Given the description of an element on the screen output the (x, y) to click on. 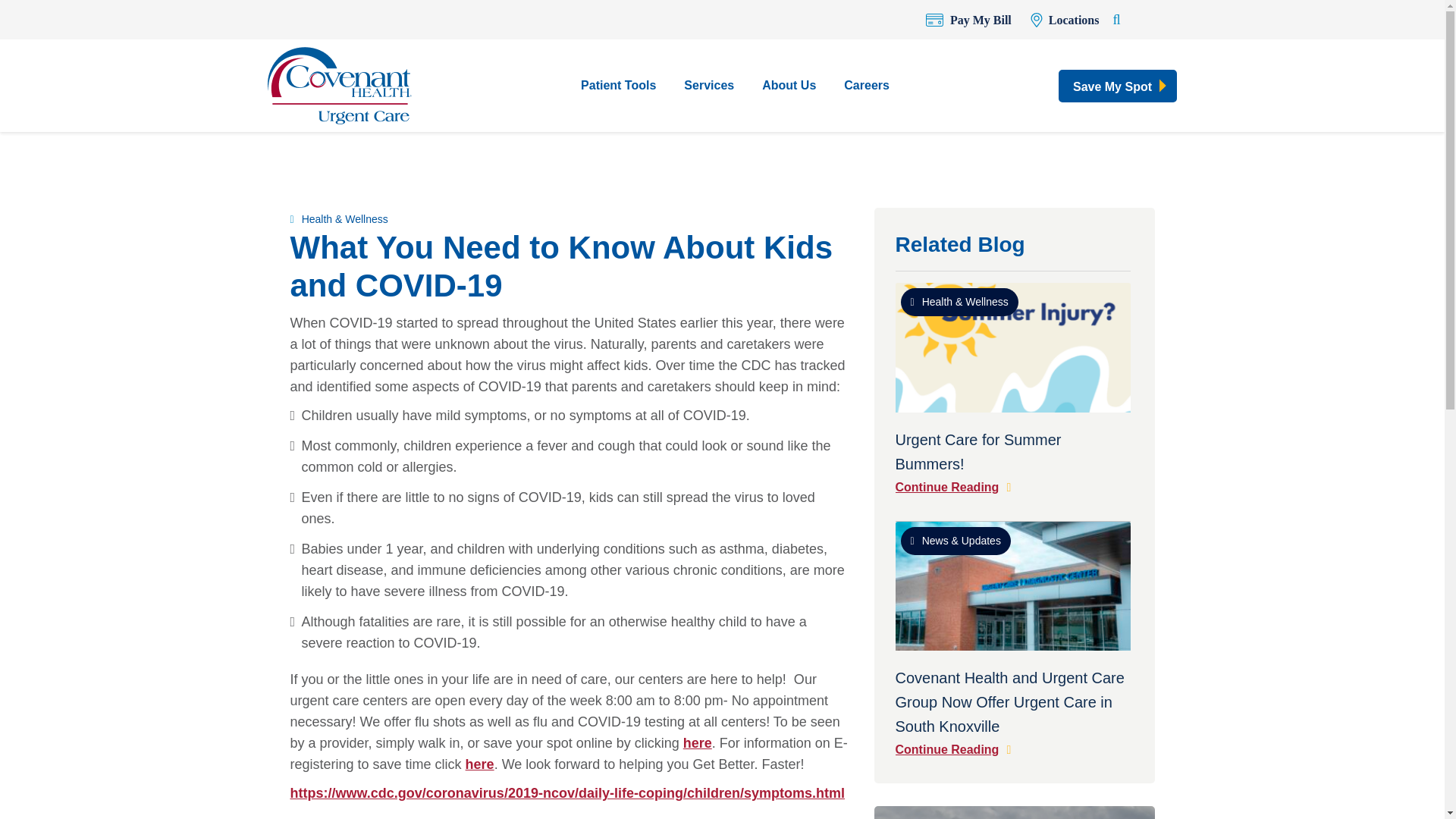
Patient Tools (618, 85)
Pay My Bill (968, 20)
About Us (789, 85)
Careers (865, 85)
Locations (1064, 20)
Services (709, 85)
